Given the description of an element on the screen output the (x, y) to click on. 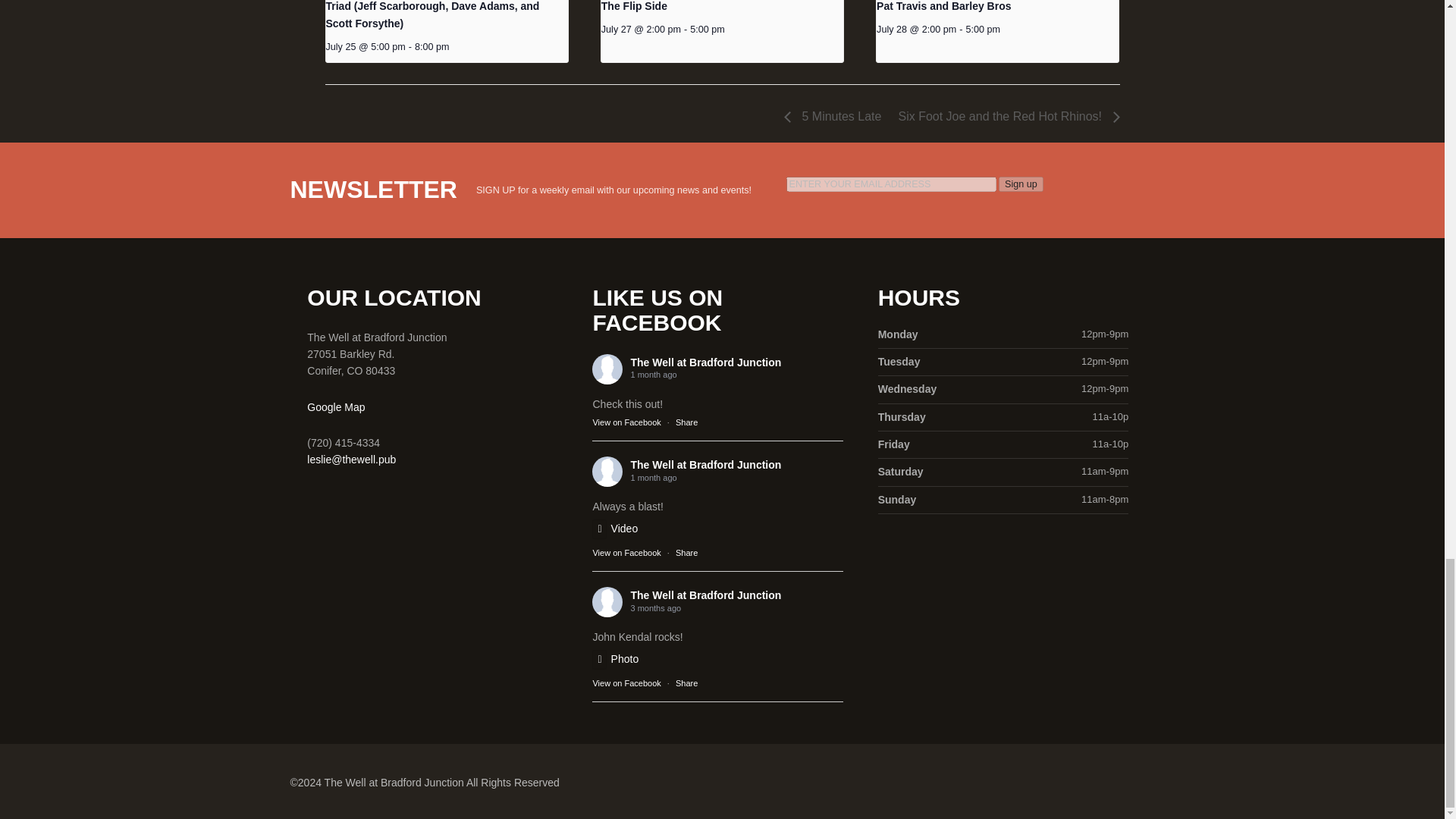
The Well at Bradford Junction (705, 464)
Google Map (336, 407)
View on Facebook (626, 552)
Share (686, 421)
Sign up (1020, 183)
Share (686, 421)
Share (686, 552)
Six Foot Joe and the Red Hot Rhinos! (1004, 115)
View on Facebook (626, 421)
Sign up (1020, 183)
The Well at Bradford Junction (705, 362)
Pat Travis and Barley Bros (943, 6)
5 Minutes Late (836, 115)
View on Facebook (626, 421)
The Flip Side (633, 6)
